Given the description of an element on the screen output the (x, y) to click on. 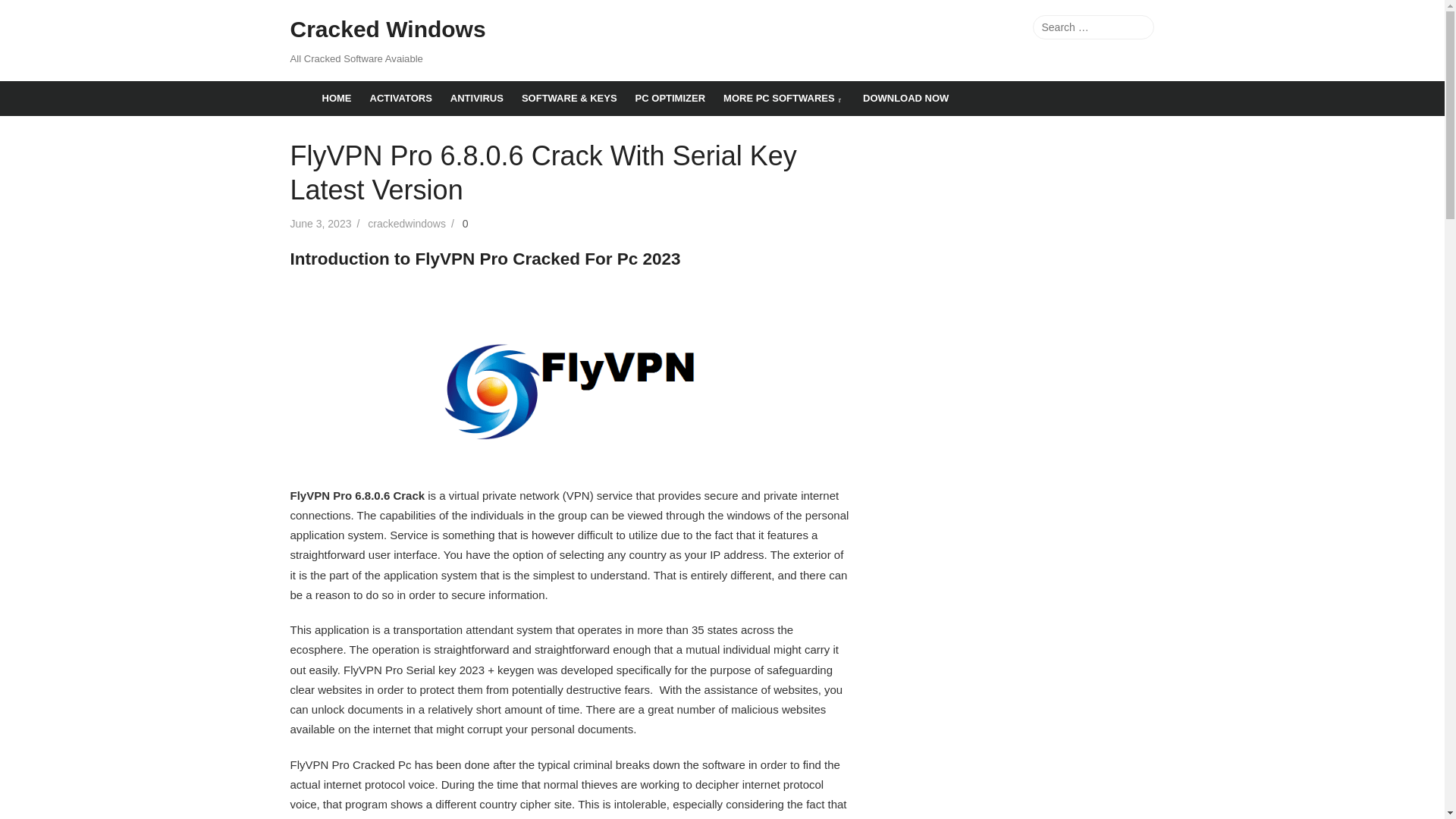
DOWNLOAD NOW (905, 98)
ACTIVATORS (401, 98)
Cracked Windows (386, 29)
Cracked Windows (301, 88)
Search (1137, 27)
PC OPTIMIZER (670, 98)
ANTIVIRUS (476, 98)
HOME (336, 98)
MORE PC SOFTWARES (783, 98)
